Given the description of an element on the screen output the (x, y) to click on. 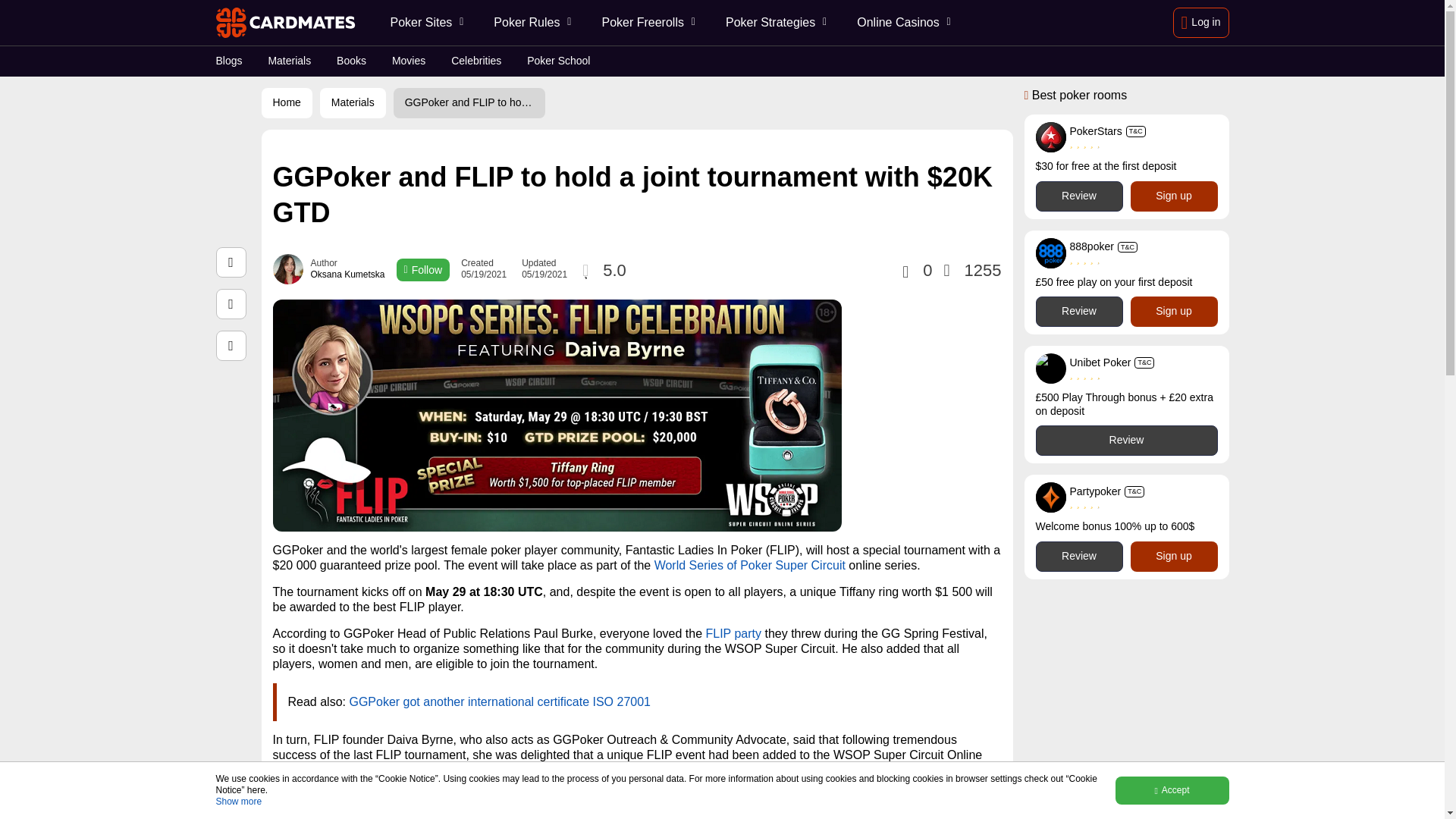
Celebrities (475, 60)
Online Casinos (901, 22)
Books (351, 60)
Log in (1200, 22)
telegram (230, 345)
Materials (289, 60)
twitter (230, 304)
Log in (1200, 22)
Poker Rules (530, 22)
Poker Freerolls (646, 22)
facebook (230, 262)
Follow (422, 269)
Poker School (558, 60)
Movies (408, 60)
Poker Strategies (774, 22)
